Given the description of an element on the screen output the (x, y) to click on. 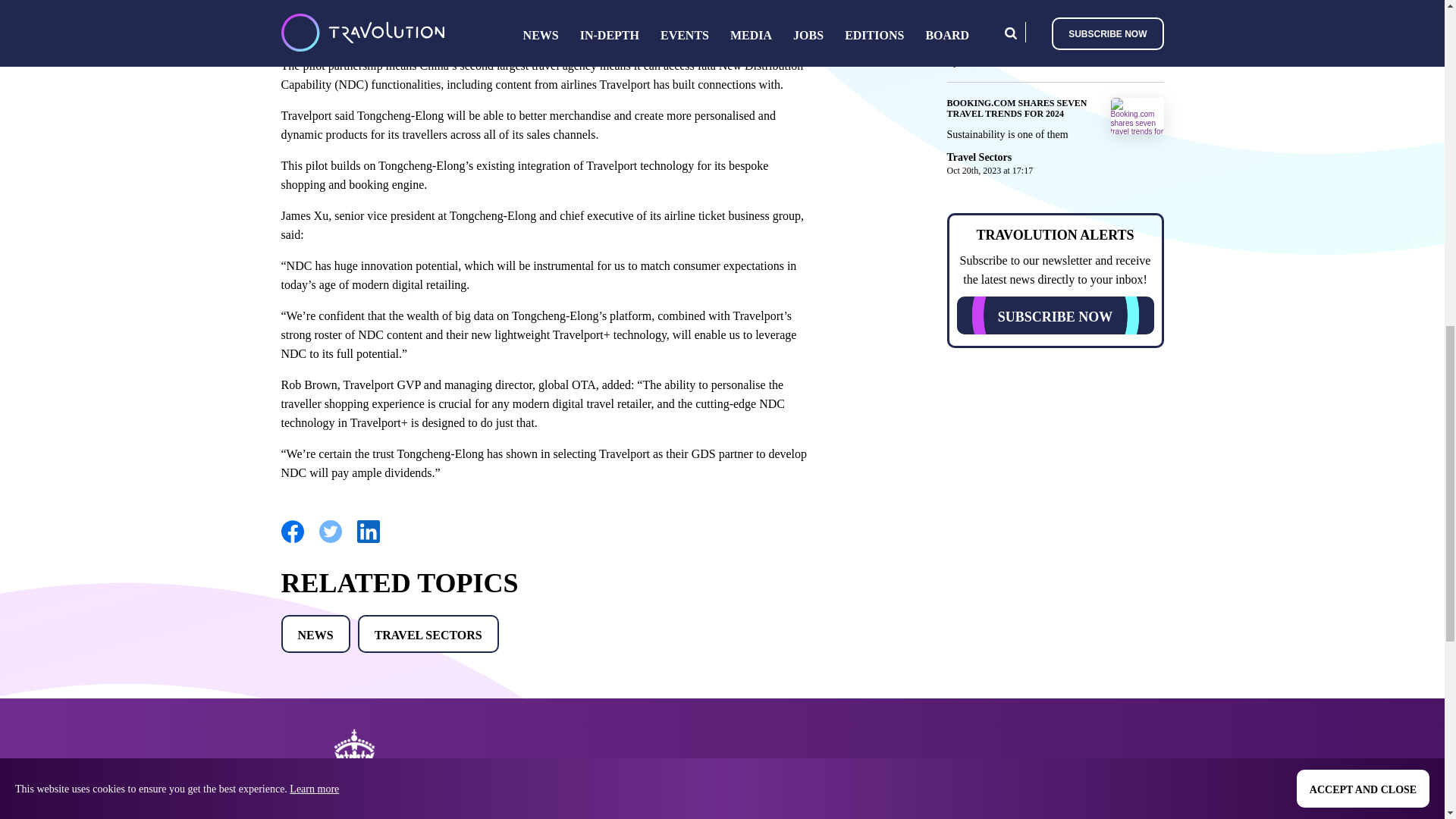
Share on LinkedIn (367, 540)
Share on Facebook (291, 540)
Share on Twitter (329, 540)
Tongcheng-Elong (438, 15)
